Given the description of an element on the screen output the (x, y) to click on. 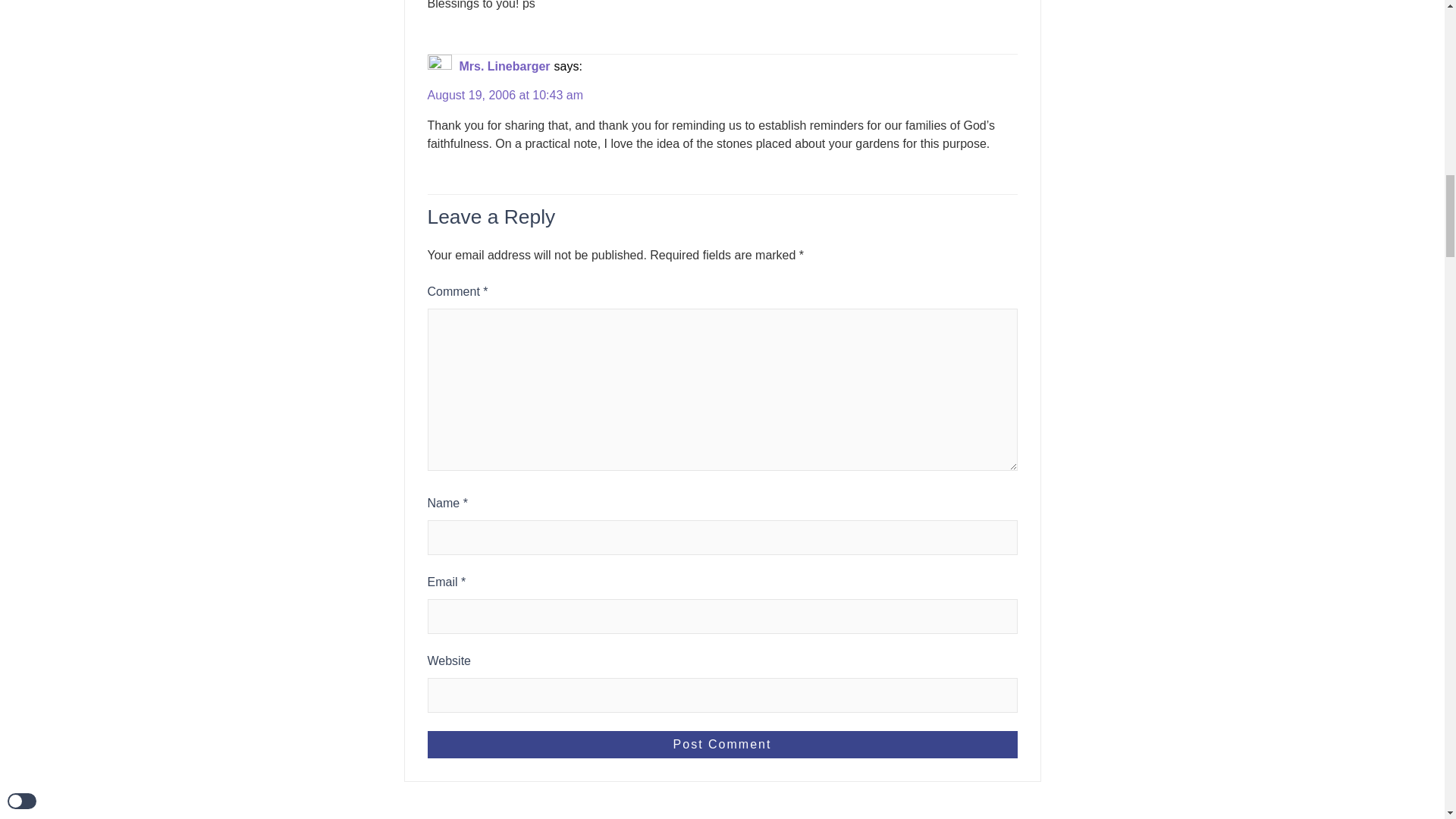
Mrs. Linebarger (505, 66)
Post Comment (722, 744)
August 19, 2006 at 10:43 am (505, 95)
Post Comment (722, 744)
